Given the description of an element on the screen output the (x, y) to click on. 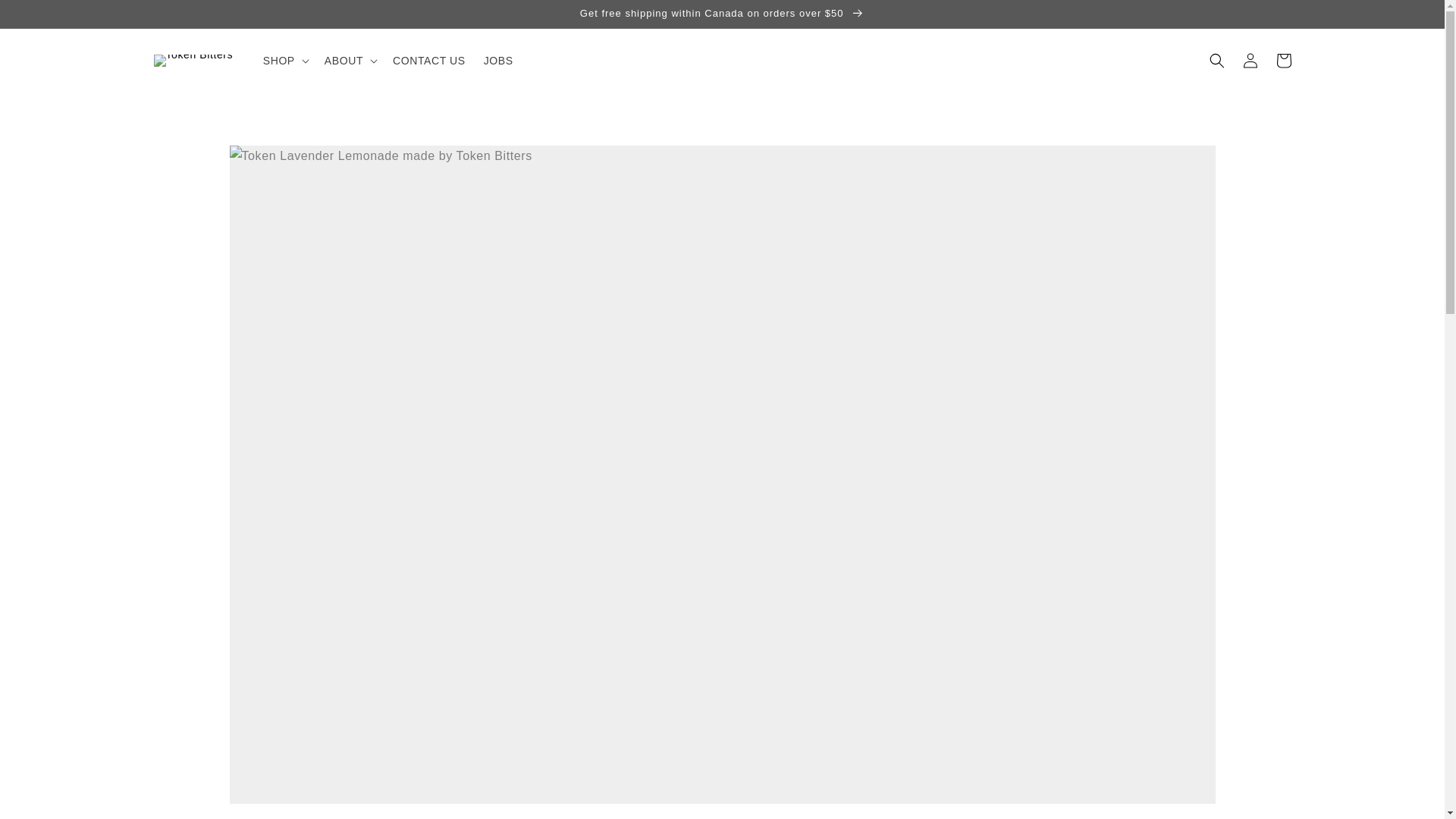
CONTACT US (429, 60)
Cart (1283, 60)
Log in (1249, 60)
Skip to content (45, 16)
JOBS (498, 60)
